Given the description of an element on the screen output the (x, y) to click on. 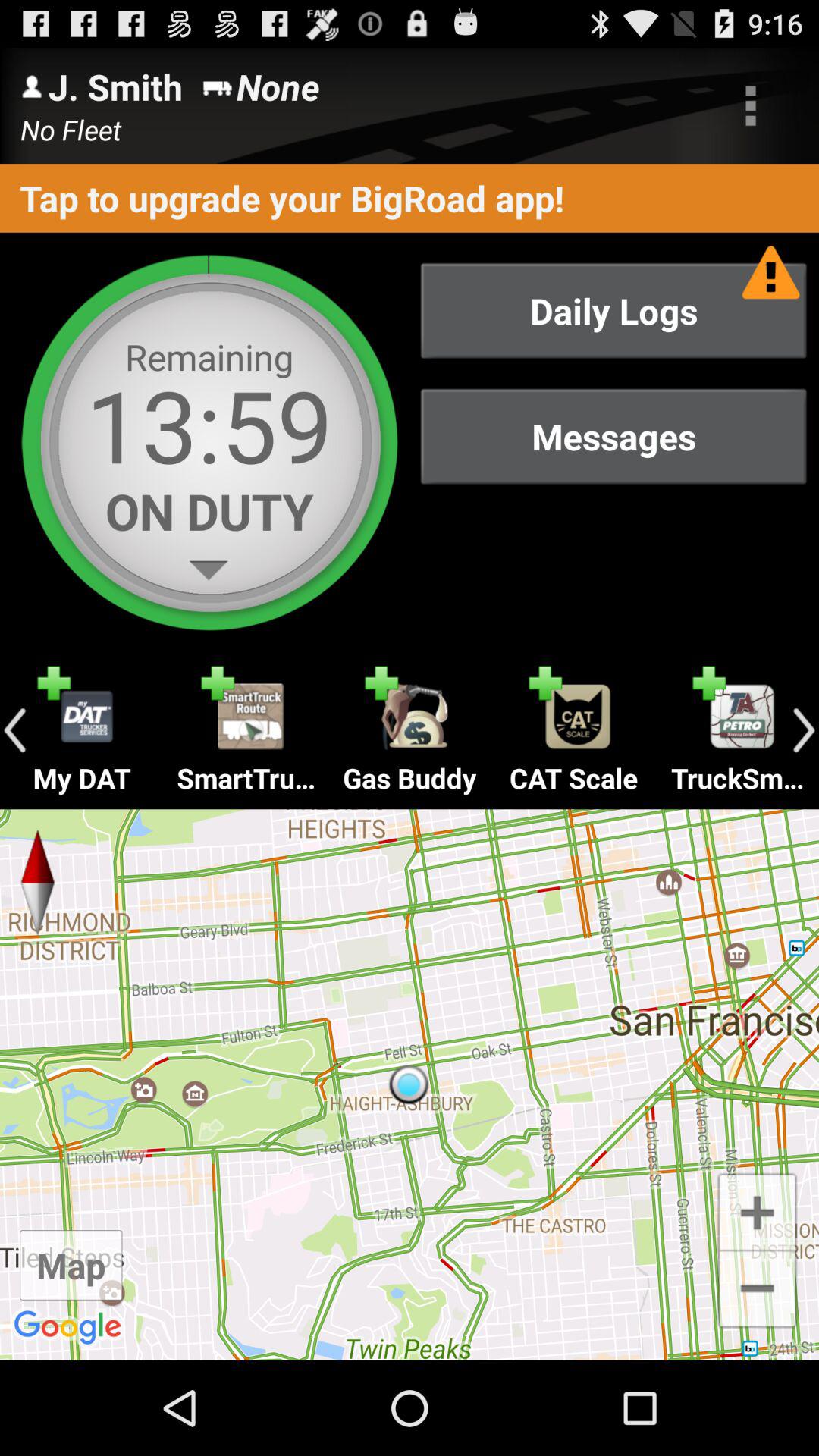
swipe until daily logs item (613, 310)
